Given the description of an element on the screen output the (x, y) to click on. 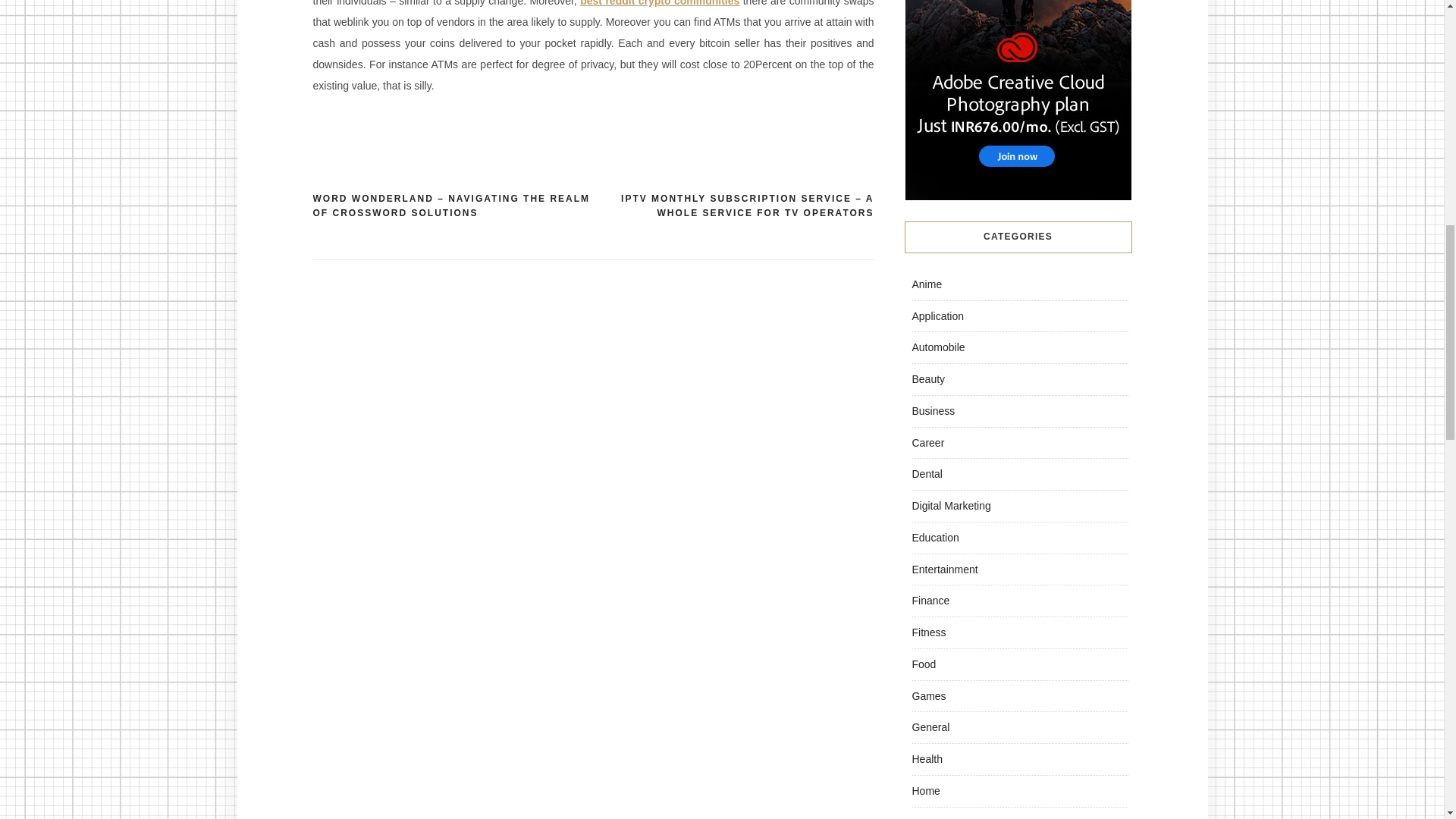
Career (927, 442)
Home Improvement (957, 817)
General (930, 727)
best reddit crypto communities (659, 3)
Automobile (937, 346)
Application (937, 315)
Beauty (927, 378)
Digital Marketing (950, 505)
Dental (926, 473)
Entertainment (943, 568)
